Given the description of an element on the screen output the (x, y) to click on. 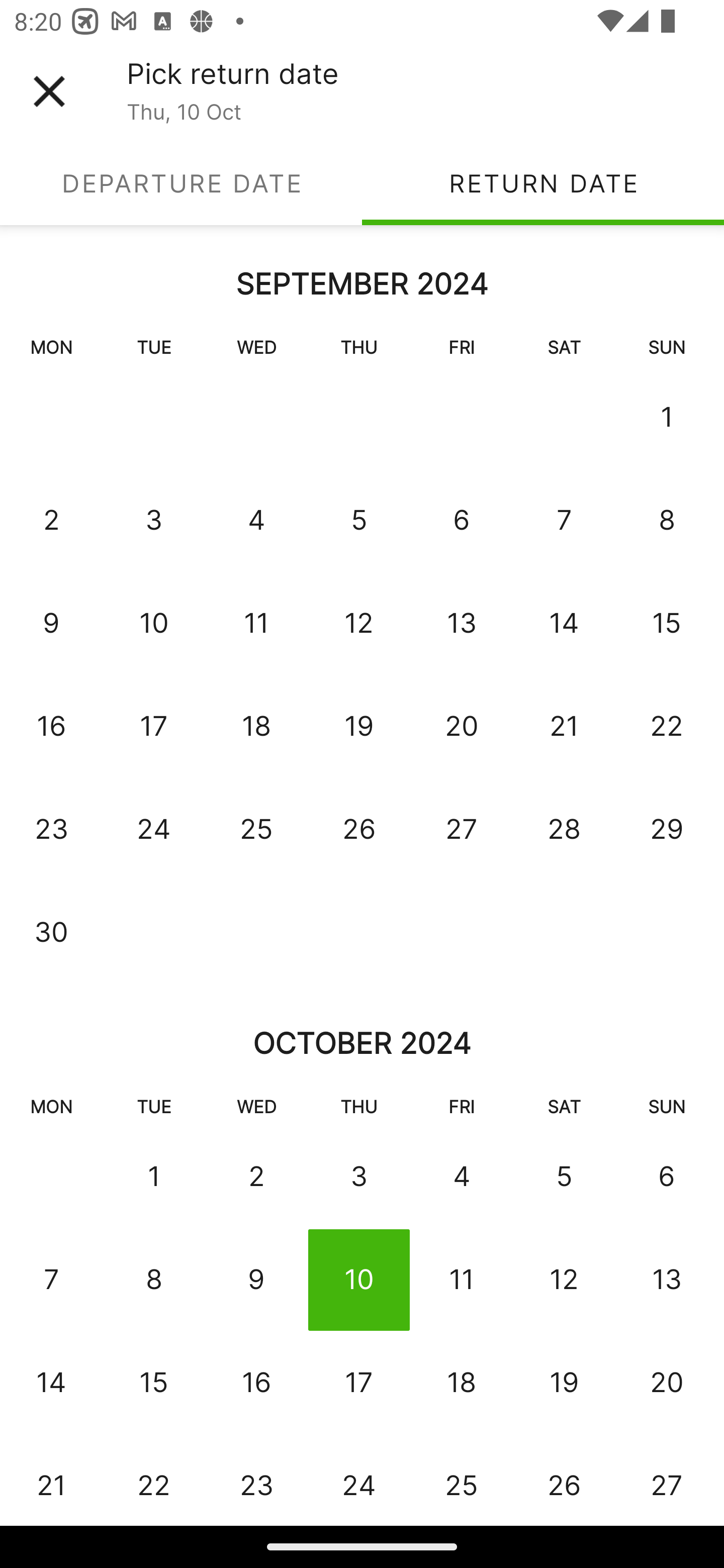
Departure Date DEPARTURE DATE (181, 183)
